Given the description of an element on the screen output the (x, y) to click on. 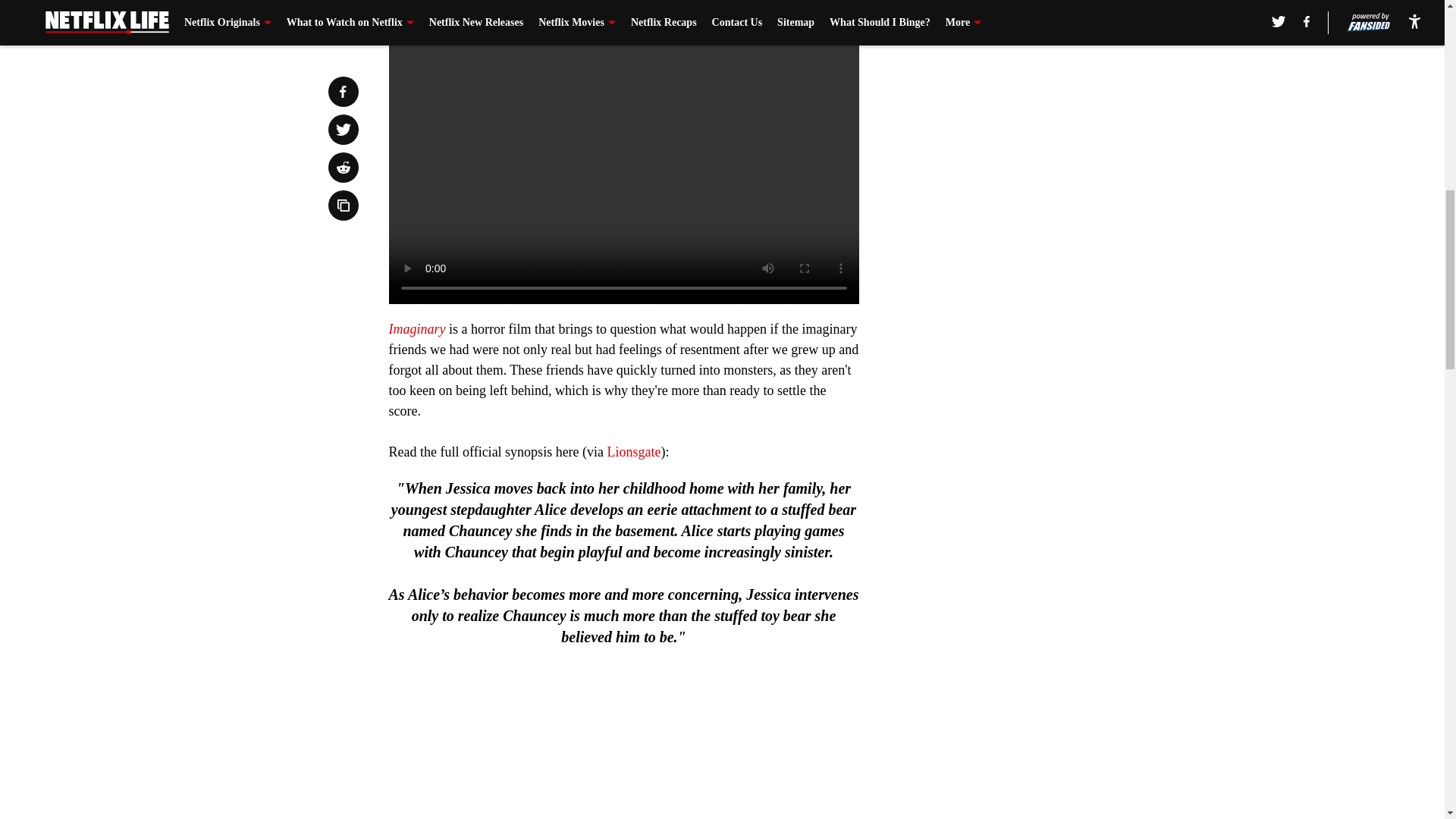
3rd party ad content (1047, 353)
3rd party ad content (1047, 134)
